Given the description of an element on the screen output the (x, y) to click on. 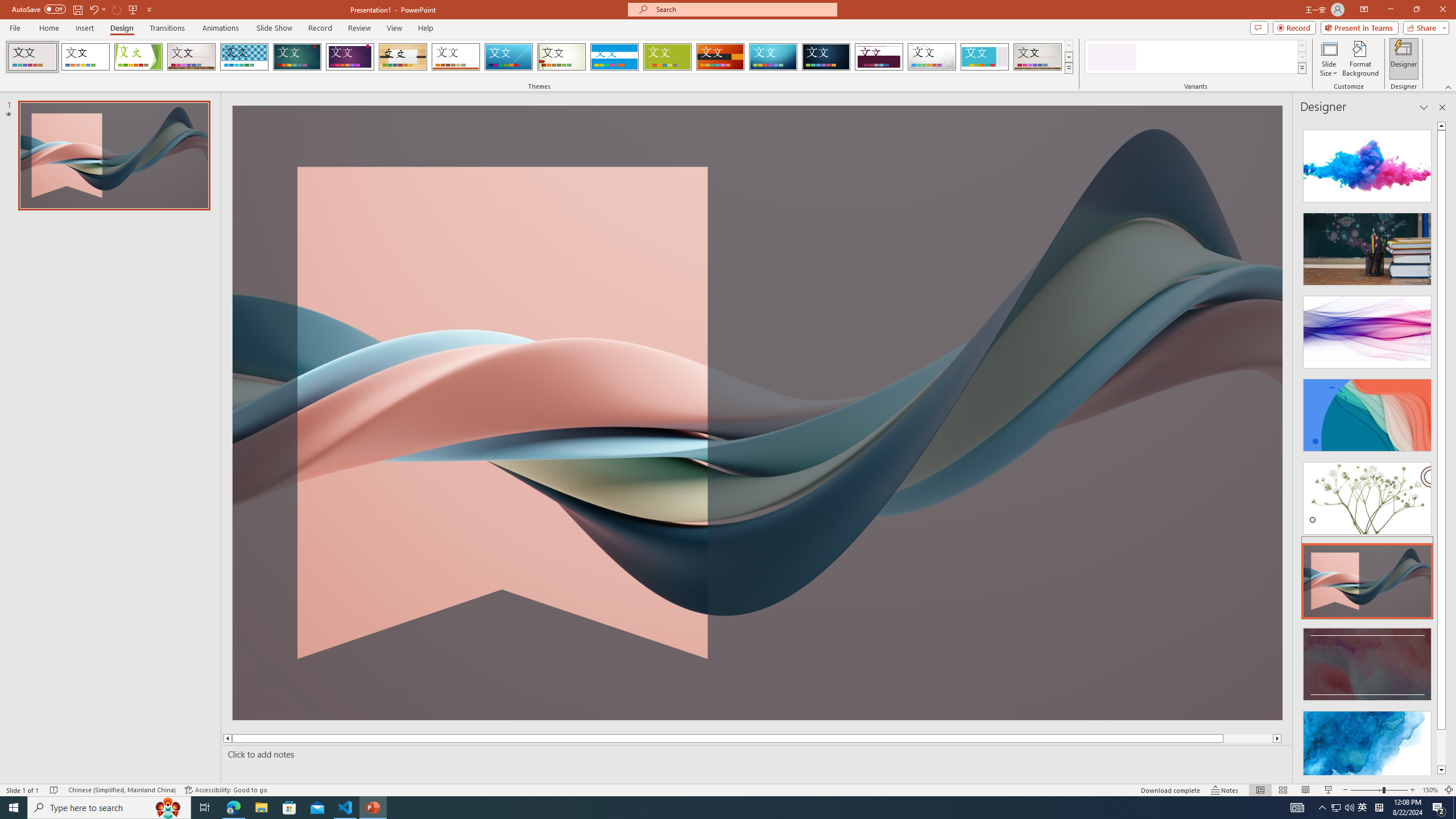
Slice (508, 56)
Berlin (720, 56)
Design Idea (1366, 743)
Accessibility Checker Accessibility: Good to go (226, 790)
Variants (1301, 67)
AutomationID: SlideThemesGallery (539, 56)
Droplet (931, 56)
Themes (1068, 67)
